Given the description of an element on the screen output the (x, y) to click on. 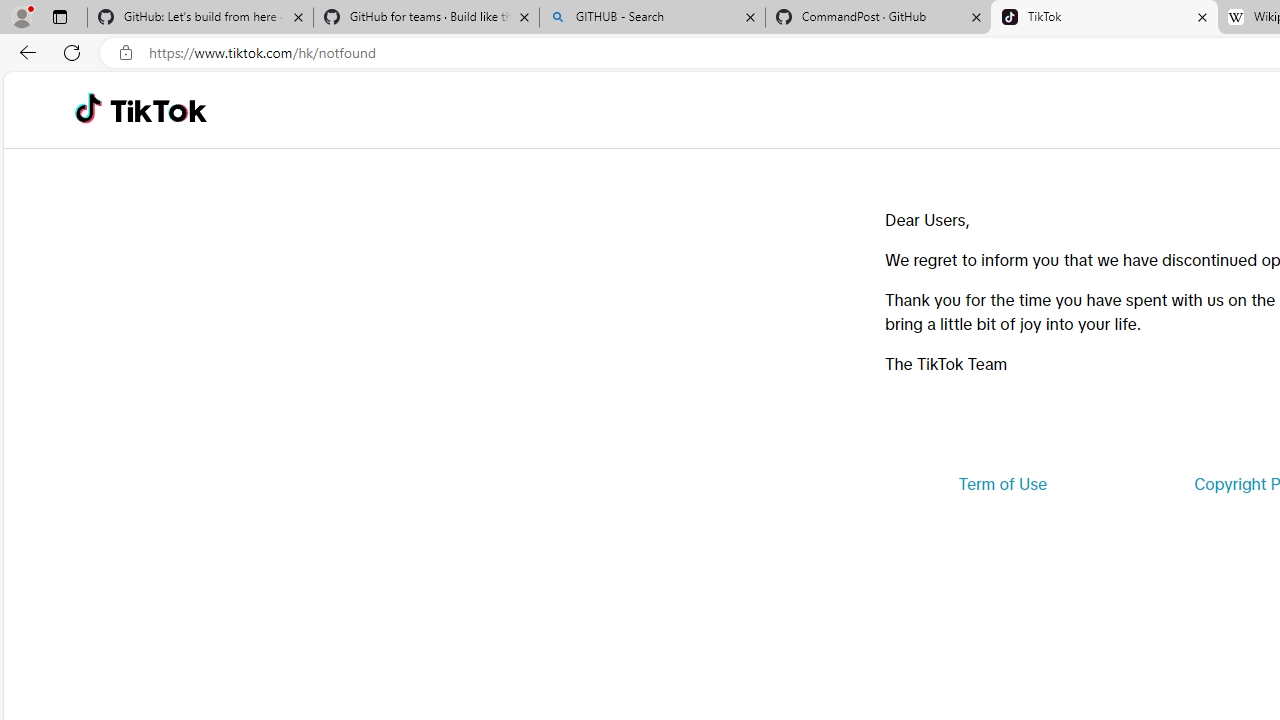
GITHUB - Search (652, 17)
Term of Use (1002, 484)
